Given the description of an element on the screen output the (x, y) to click on. 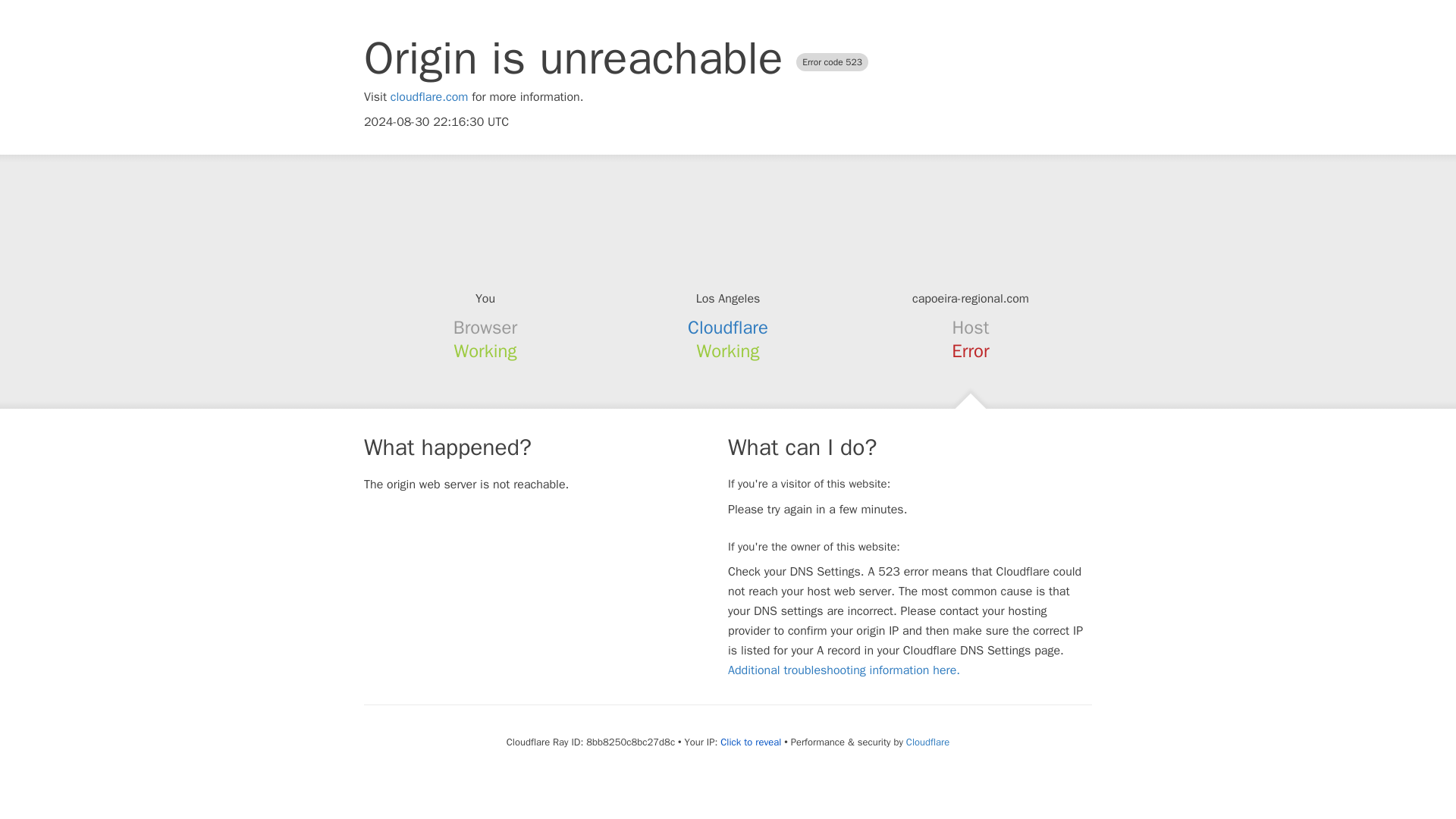
Additional troubleshooting information here. (843, 670)
Cloudflare (927, 741)
Cloudflare (727, 327)
cloudflare.com (429, 96)
Click to reveal (750, 742)
